Given the description of an element on the screen output the (x, y) to click on. 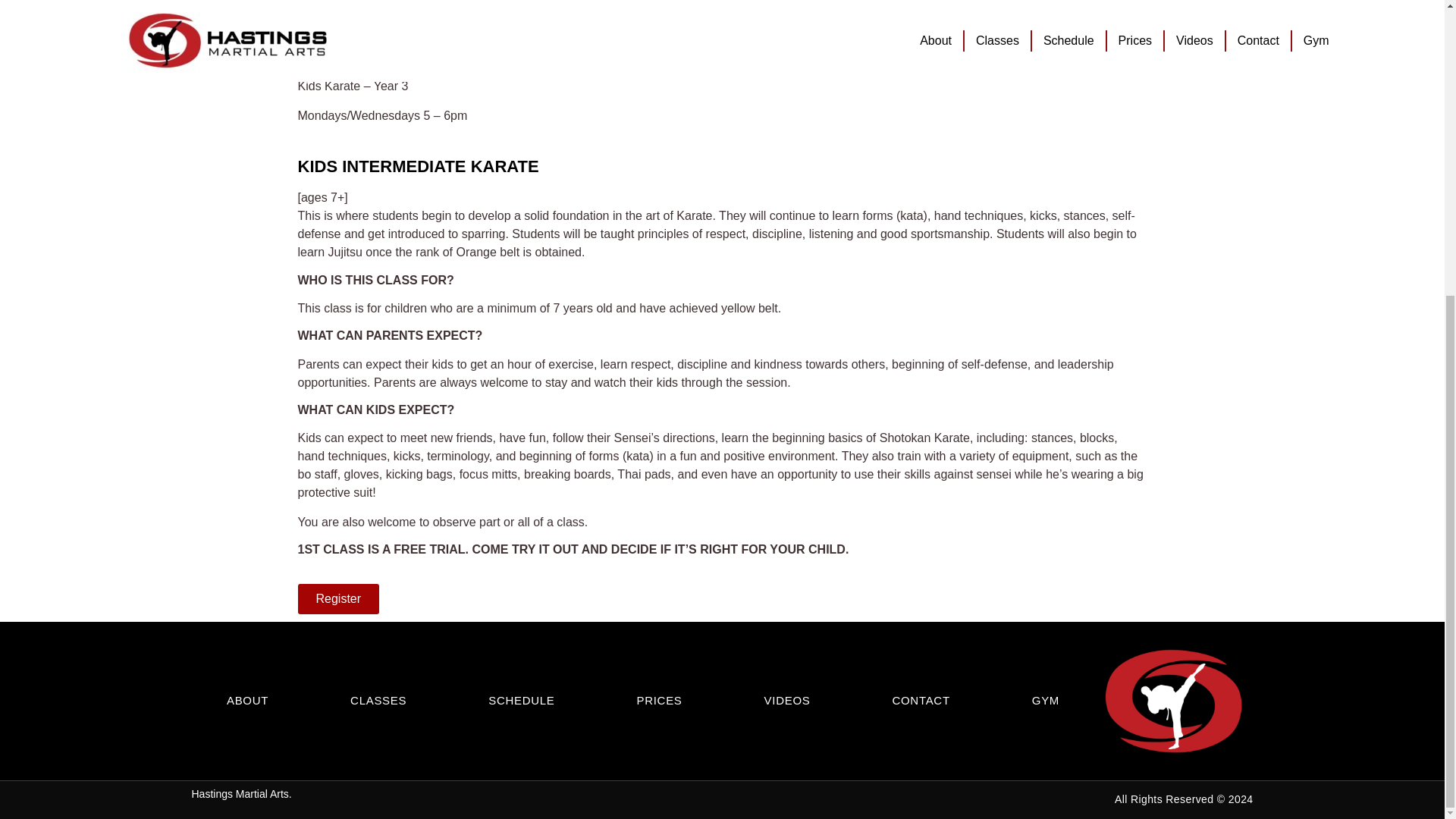
VIDEOS (787, 700)
CLASSES (378, 700)
ABOUT (247, 700)
CONTACT (920, 700)
cropped-HMA-Favicon-3.png (1173, 701)
SCHEDULE (520, 700)
GYM (1045, 700)
Register (337, 598)
PRICES (659, 700)
